Given the description of an element on the screen output the (x, y) to click on. 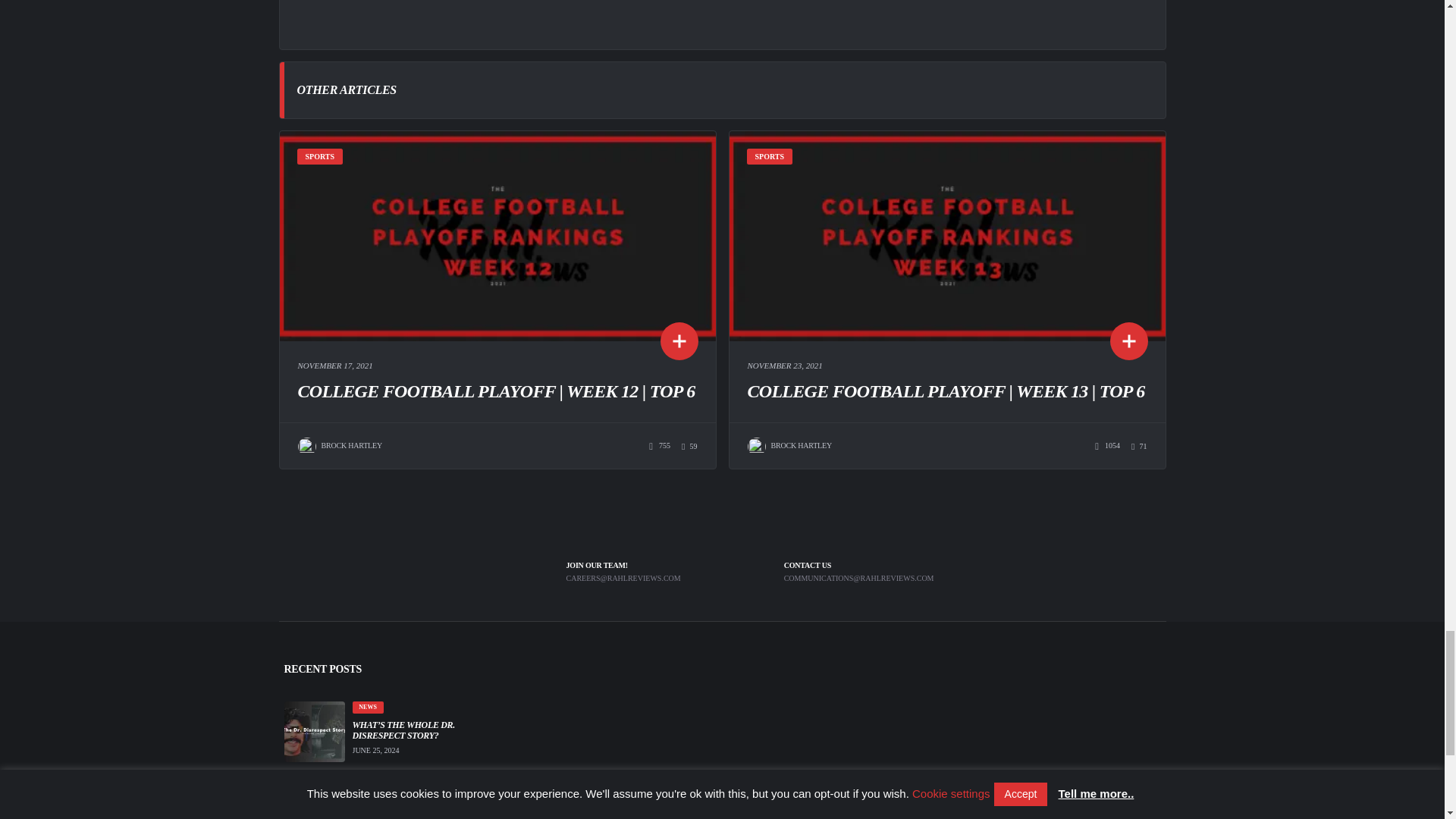
59 (689, 447)
Like (689, 447)
What Are the Different Playable xDefiant Characters? (419, 806)
Like (1139, 447)
